Given the description of an element on the screen output the (x, y) to click on. 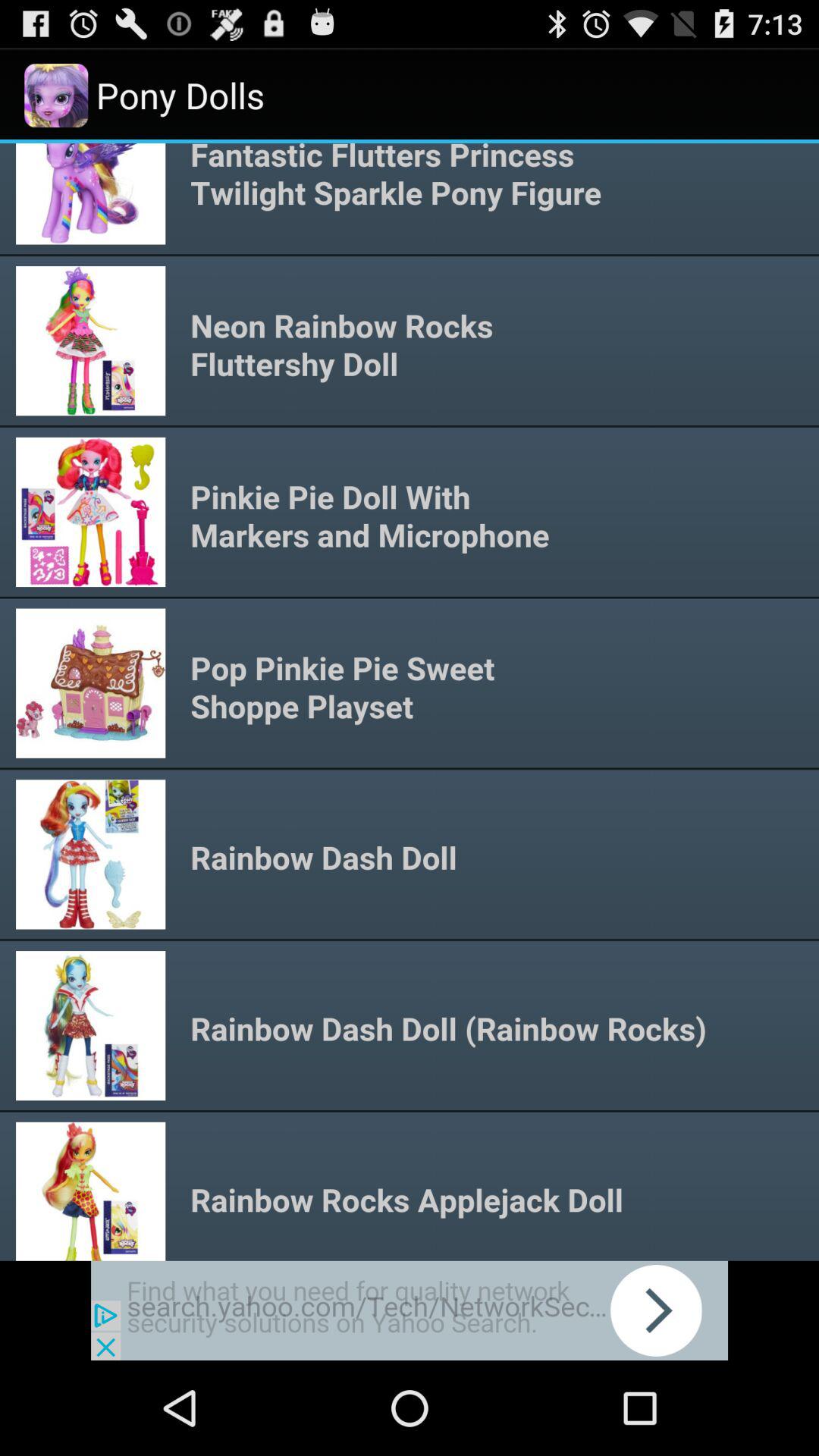
go to next (409, 1310)
